Given the description of an element on the screen output the (x, y) to click on. 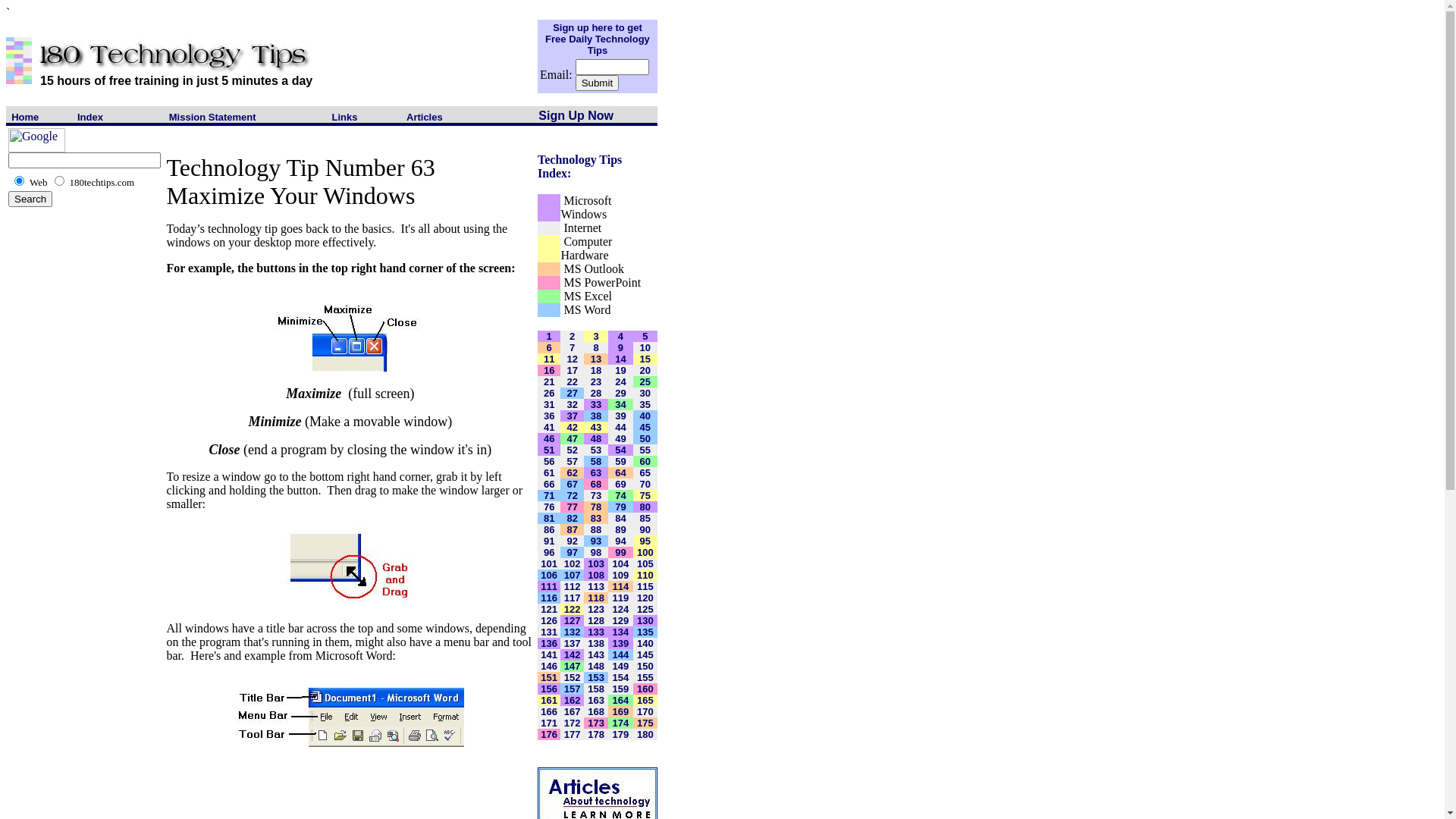
67 Element type: text (571, 483)
129 Element type: text (620, 619)
150 Element type: text (645, 664)
22 Element type: text (571, 381)
29 Element type: text (620, 392)
46 Element type: text (548, 438)
126 Element type: text (548, 619)
Advertisement Element type: hover (74, 255)
25 Element type: text (645, 381)
45 Element type: text (645, 427)
2 Element type: text (571, 336)
30 Element type: text (645, 392)
18 Element type: text (595, 370)
114 Element type: text (620, 585)
121 Element type: text (548, 608)
Index Element type: text (90, 116)
115 Element type: text (645, 585)
55 Element type: text (645, 449)
109 Element type: text (620, 573)
142 Element type: text (572, 653)
51 Element type: text (548, 449)
156 Element type: text (548, 687)
174 Element type: text (620, 721)
27 Element type: text (571, 392)
89 Element type: text (620, 529)
165 Element type: text (645, 699)
122 Element type: text (572, 608)
168 Element type: text (595, 710)
72 Element type: text (571, 495)
63 Element type: text (595, 472)
1 Element type: text (549, 336)
159 Element type: text (620, 687)
37 Element type: text (571, 415)
135 Element type: text (645, 630)
137 Element type: text (572, 642)
157 Element type: text (572, 687)
52 Element type: text (571, 449)
6 Element type: text (549, 347)
17 Element type: text (571, 370)
149 Element type: text (620, 664)
127 Element type: text (572, 619)
100 Element type: text (645, 551)
132 Element type: text (572, 630)
120 Element type: text (645, 596)
58 Element type: text (595, 461)
158 Element type: text (595, 687)
130 Element type: text (645, 619)
169 Element type: text (620, 710)
104 Element type: text (620, 562)
136 Element type: text (548, 642)
65 Element type: text (645, 472)
124 Element type: text (620, 608)
116 Element type: text (548, 596)
41 Element type: text (548, 427)
84 Element type: text (620, 518)
163 Element type: text (595, 699)
105 Element type: text (645, 562)
170 Element type: text (645, 710)
102 Element type: text (572, 562)
Technology Tips Index: Element type: text (579, 166)
68 Element type: text (595, 483)
117 Element type: text (572, 596)
111 Element type: text (548, 585)
176 Element type: text (548, 733)
60 Element type: text (645, 461)
70 Element type: text (645, 483)
28 Element type: text (595, 392)
162 Element type: text (572, 699)
90 Element type: text (645, 529)
153 Element type: text (595, 676)
3 Element type: text (595, 336)
155 Element type: text (645, 676)
139 Element type: text (620, 642)
12 Element type: text (571, 358)
92 Element type: text (571, 539)
38 Element type: text (595, 415)
94 Element type: text (620, 539)
118 Element type: text (595, 596)
93 Element type: text (595, 539)
96 Element type: text (548, 551)
Sign Up Now Element type: text (575, 115)
145 Element type: text (645, 653)
86 Element type: text (548, 529)
32 Element type: text (571, 404)
112 Element type: text (572, 585)
7 Element type: text (571, 347)
24 Element type: text (620, 381)
48 Element type: text (595, 438)
21 Element type: text (548, 381)
Home Element type: text (24, 116)
83 Element type: text (595, 518)
152 Element type: text (572, 676)
82 Element type: text (571, 518)
119 Element type: text (620, 596)
144 Element type: text (620, 653)
36 Element type: text (548, 415)
148 Element type: text (595, 664)
77 Element type: text (571, 506)
39 Element type: text (620, 415)
147 Element type: text (572, 664)
9 Element type: text (620, 347)
35 Element type: text (645, 404)
Articles Element type: text (424, 116)
154 Element type: text (620, 676)
178 Element type: text (595, 733)
141 Element type: text (548, 653)
44 Element type: text (620, 427)
179 Element type: text (620, 733)
110 Element type: text (645, 573)
88 Element type: text (595, 529)
23 Element type: text (595, 381)
5 Element type: text (644, 336)
78 Element type: text (595, 506)
14 Element type: text (620, 358)
106 Element type: text (548, 573)
26 Element type: text (548, 392)
107 Element type: text (572, 573)
74 Element type: text (620, 495)
16 Element type: text (548, 370)
134 Element type: text (620, 630)
73 Element type: text (595, 495)
Submit Element type: text (596, 83)
99 Element type: text (620, 551)
Search Element type: text (30, 199)
15 Element type: text (645, 358)
69 Element type: text (620, 483)
101 Element type: text (548, 562)
50 Element type: text (645, 438)
175 Element type: text (645, 721)
143 Element type: text (595, 653)
172 Element type: text (572, 721)
161 Element type: text (548, 699)
40 Element type: text (645, 415)
42 Element type: text (571, 427)
59 Element type: text (620, 461)
125 Element type: text (645, 608)
11 Element type: text (548, 358)
8 Element type: text (595, 347)
47 Element type: text (571, 438)
103 Element type: text (595, 562)
146 Element type: text (548, 664)
L Element type: text (335, 115)
138 Element type: text (595, 642)
123 Element type: text (595, 608)
75 Element type: text (645, 495)
62 Element type: text (571, 472)
20 Element type: text (645, 370)
76 Element type: text (548, 506)
166 Element type: text (548, 710)
177 Element type: text (572, 733)
71 Element type: text (548, 495)
140 Element type: text (645, 642)
164 Element type: text (620, 699)
61 Element type: text (548, 472)
inks Element type: text (347, 116)
80 Element type: text (645, 506)
31 Element type: text (548, 404)
133 Element type: text (595, 630)
95 Element type: text (645, 539)
171 Element type: text (548, 721)
57 Element type: text (571, 461)
113 Element type: text (595, 585)
10 Element type: text (645, 347)
56 Element type: text (548, 461)
167 Element type: text (572, 710)
81 Element type: text (548, 518)
66 Element type: text (548, 483)
98 Element type: text (595, 551)
79 Element type: text (620, 506)
64 Element type: text (620, 472)
43 Element type: text (595, 427)
49 Element type: text (620, 438)
53 Element type: text (595, 449)
4 Element type: text (620, 336)
87 Element type: text (571, 529)
Advertisement Element type: hover (51, 528)
108 Element type: text (595, 573)
180 Element type: text (645, 733)
173 Element type: text (595, 721)
128 Element type: text (595, 619)
91 Element type: text (548, 539)
151 Element type: text (548, 676)
33 Element type: text (595, 404)
54 Element type: text (620, 449)
97 Element type: text (571, 551)
19 Element type: text (620, 370)
85 Element type: text (645, 518)
Mission Statement Element type: text (212, 116)
131 Element type: text (548, 630)
160 Element type: text (645, 687)
13 Element type: text (595, 358)
34 Element type: text (620, 404)
